Given the description of an element on the screen output the (x, y) to click on. 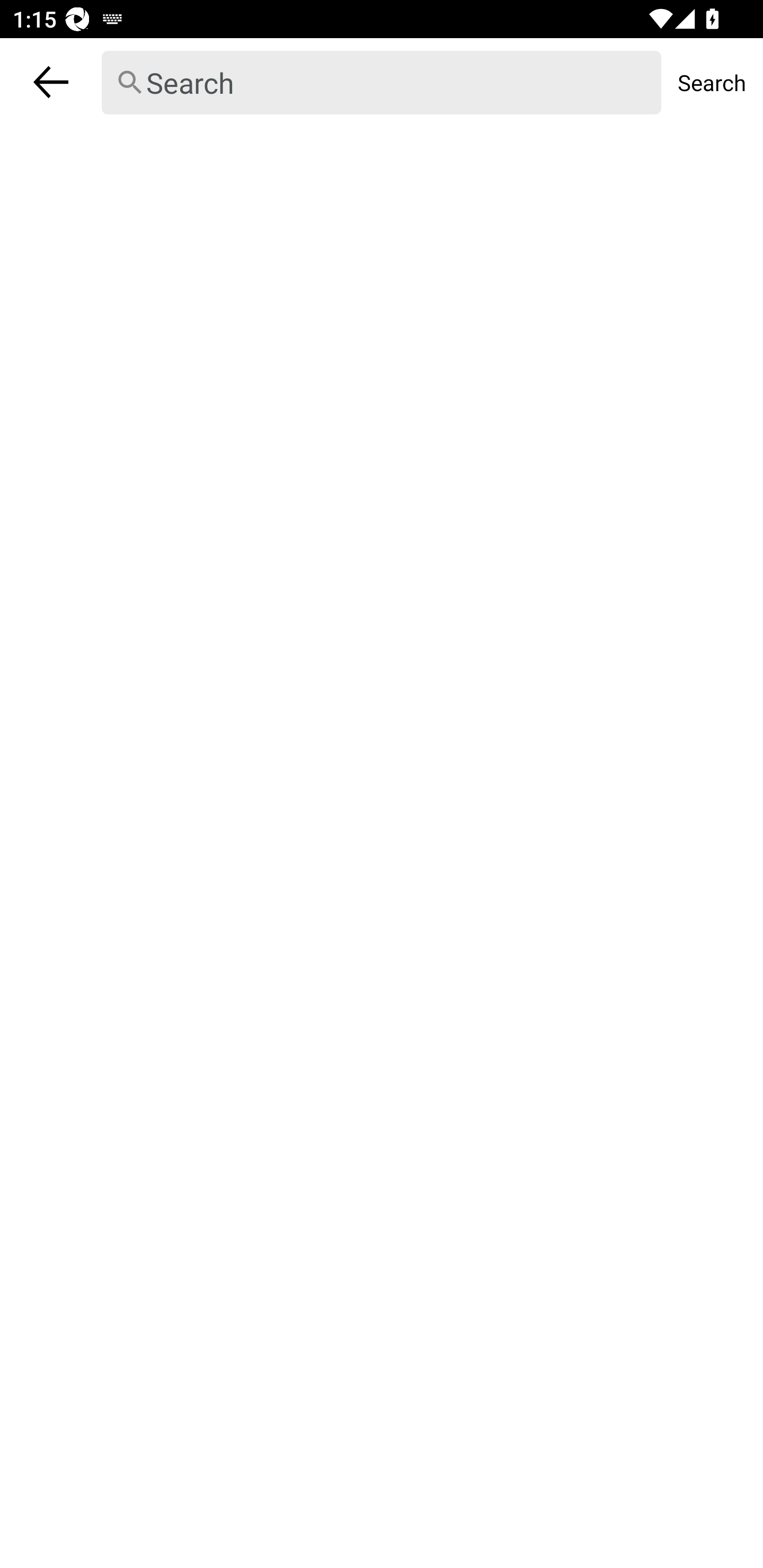
close (50, 81)
search Search (381, 82)
Search (381, 82)
Search (711, 82)
